Given the description of an element on the screen output the (x, y) to click on. 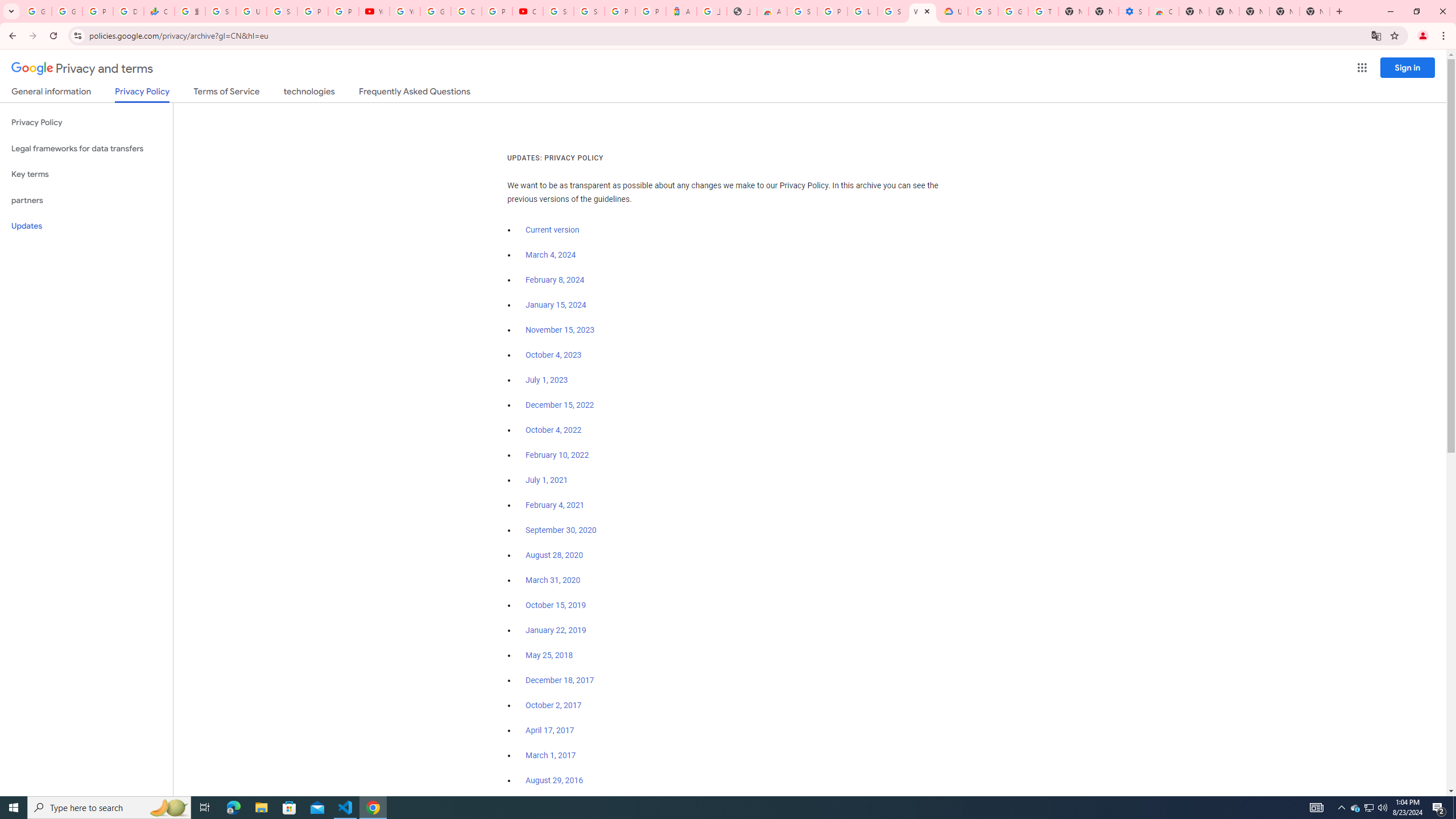
Sign in - Google Accounts (982, 11)
November 15, 2023 (560, 330)
March 31, 2020 (552, 579)
Who are Google's partners? - Privacy and conditions - Google (922, 11)
October 4, 2022 (553, 430)
February 8, 2024 (555, 280)
December 15, 2022 (559, 405)
December 18, 2017 (559, 679)
General information (51, 93)
